Given the description of an element on the screen output the (x, y) to click on. 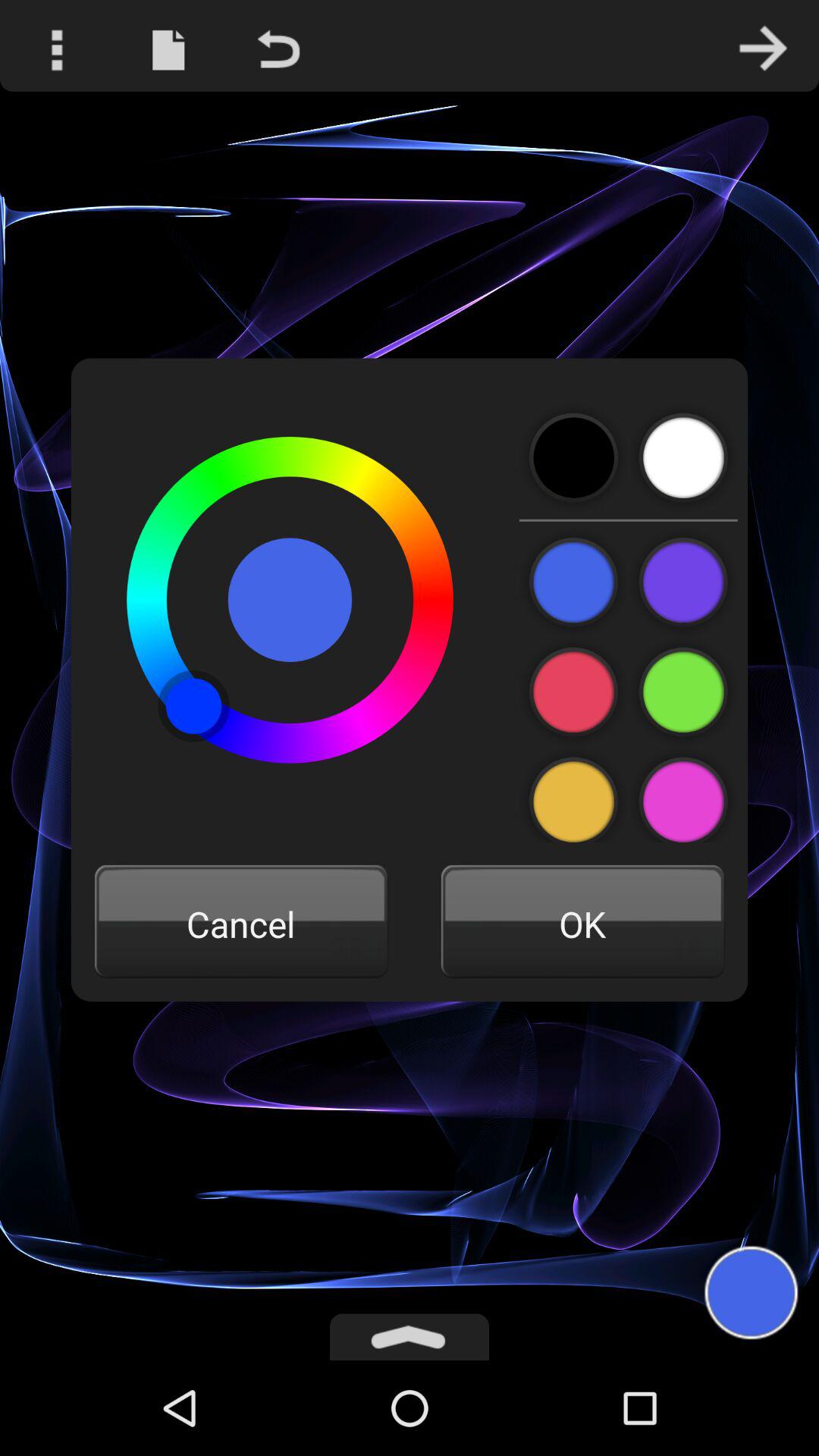
waiter (683, 458)
